Given the description of an element on the screen output the (x, y) to click on. 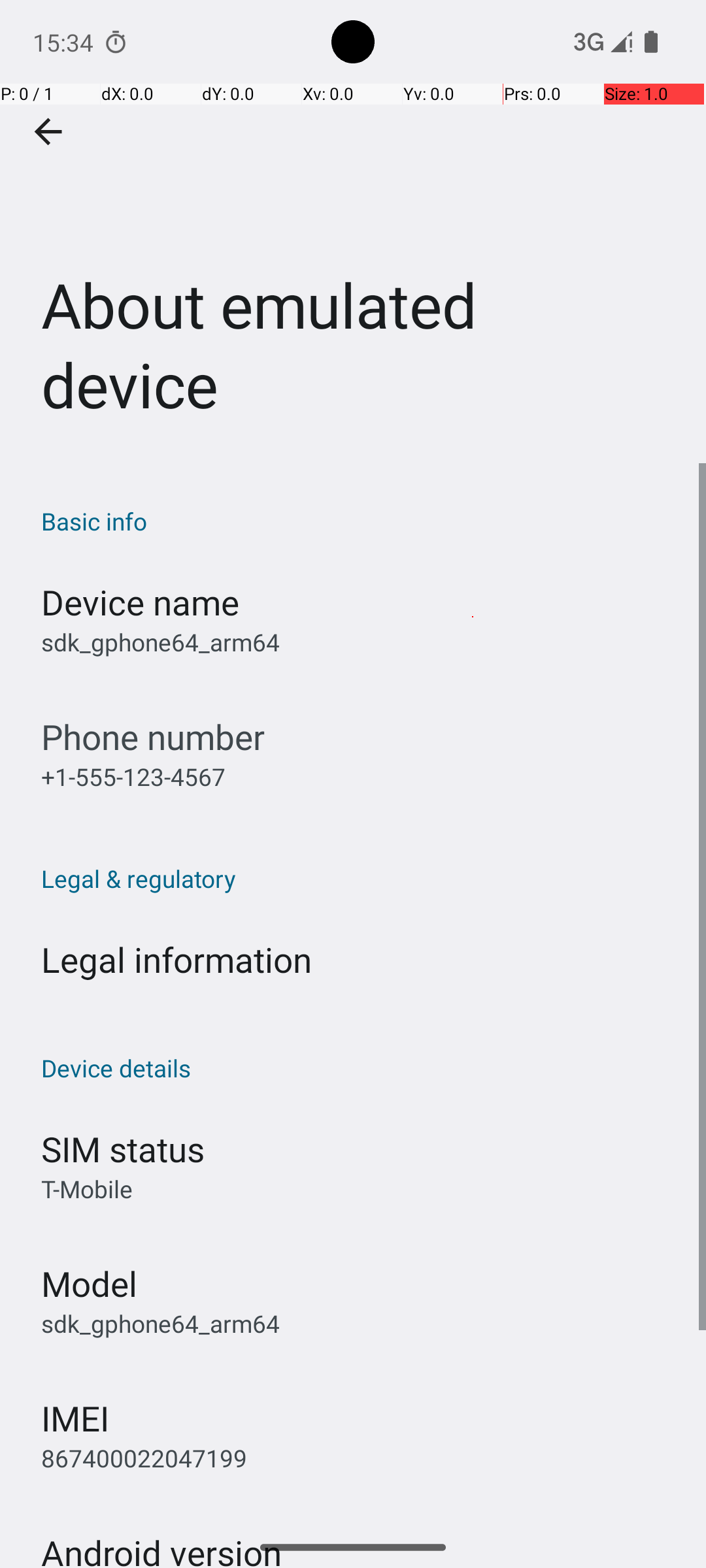
About emulated device Element type: android.widget.FrameLayout (353, 231)
Basic info Element type: android.widget.TextView (359, 520)
+1-555-123-4567 Element type: android.widget.TextView (133, 776)
Legal & regulatory Element type: android.widget.TextView (359, 878)
Legal information Element type: android.widget.TextView (176, 959)
Device details Element type: android.widget.TextView (359, 1067)
SIM status Element type: android.widget.TextView (122, 1148)
Model Element type: android.widget.TextView (89, 1283)
IMEI Element type: android.widget.TextView (75, 1417)
867400022047199 Element type: android.widget.TextView (144, 1457)
